Given the description of an element on the screen output the (x, y) to click on. 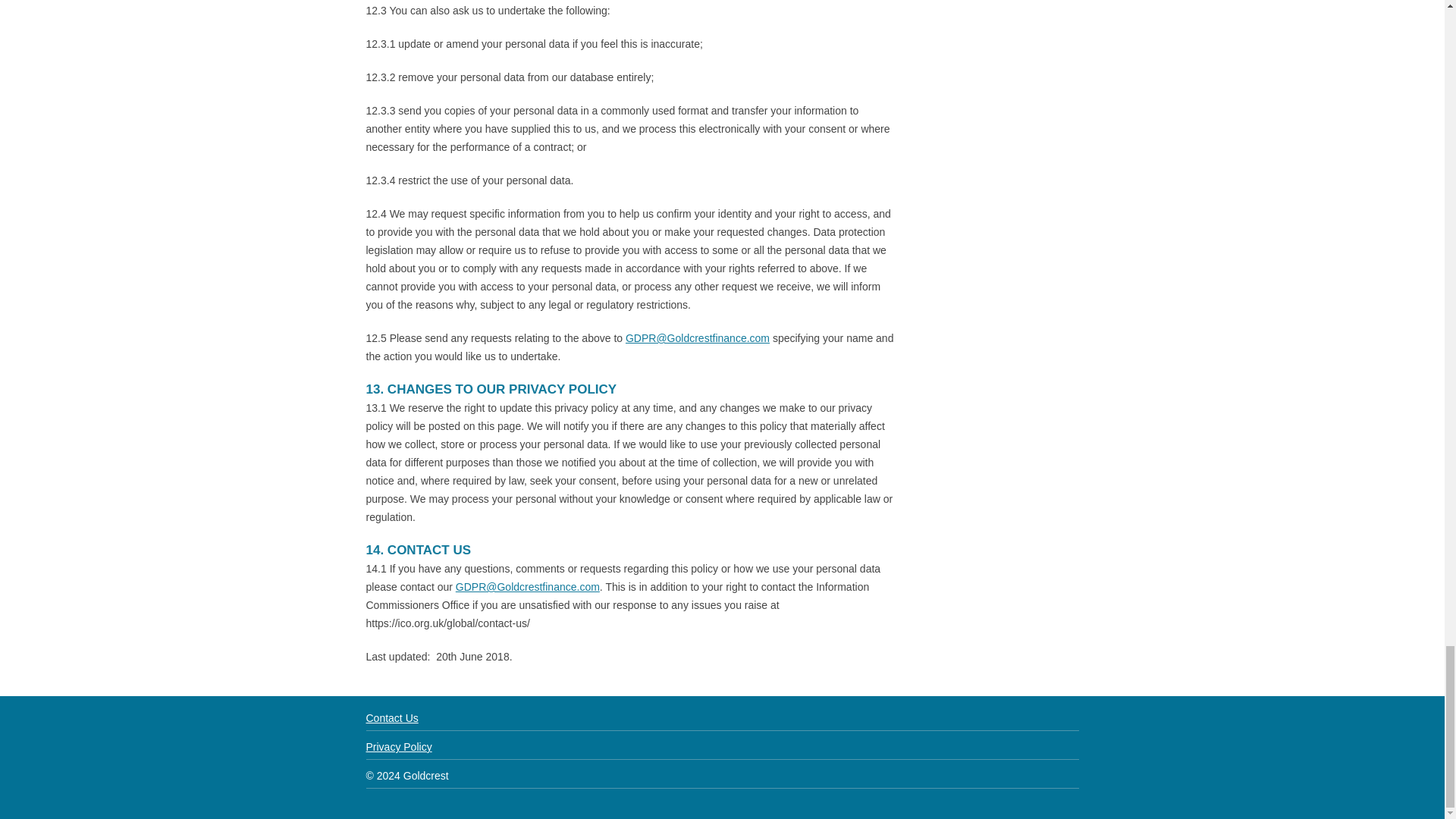
Contact Us (391, 717)
Privacy Policy (397, 746)
